Given the description of an element on the screen output the (x, y) to click on. 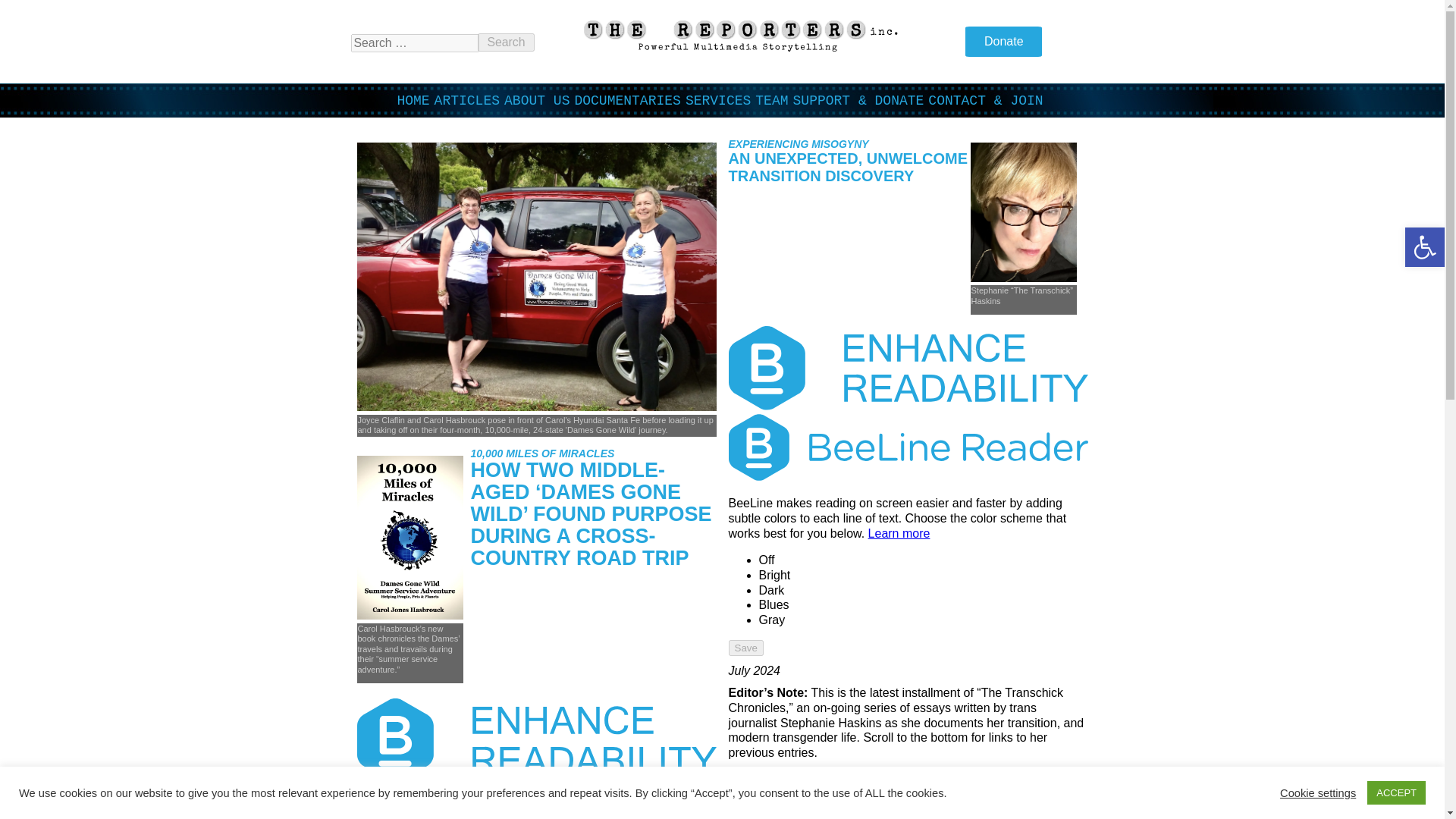
ARTICLES (466, 100)
HOME (412, 100)
Donate (1003, 41)
SERVICES (718, 100)
10,000 MILES OF MIRACLES (542, 453)
TEAM (771, 100)
Accessibility Tools (1424, 247)
ABOUT US (536, 100)
AN UNEXPECTED, UNWELCOME TRANSITION DISCOVERY (848, 166)
EXPERIENCING MISOGYNY (797, 143)
The Reporters Inc (738, 47)
Search (505, 42)
DOCUMENTARIES (626, 100)
